Given the description of an element on the screen output the (x, y) to click on. 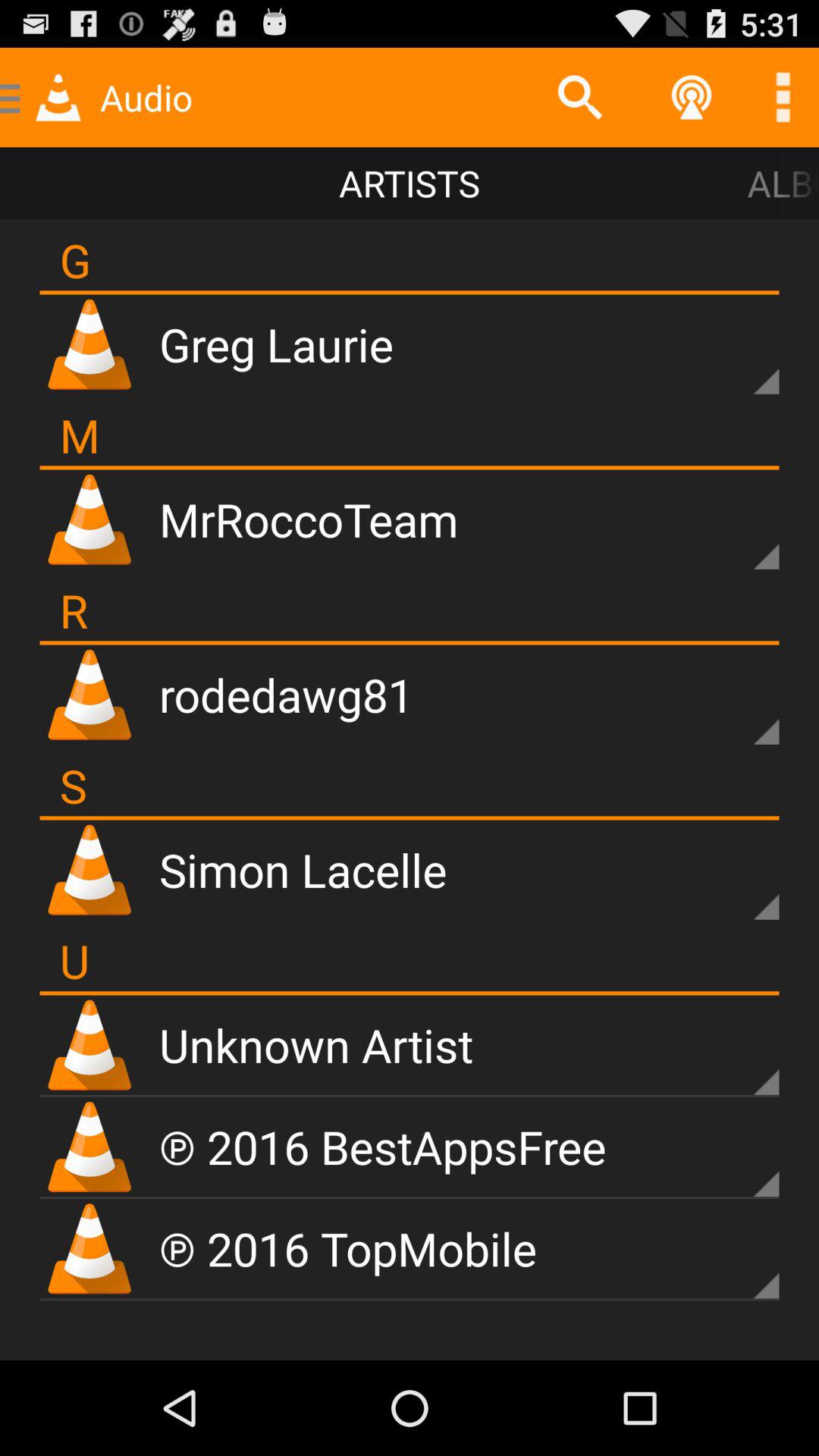
jump to the greg laurie app (276, 343)
